Given the description of an element on the screen output the (x, y) to click on. 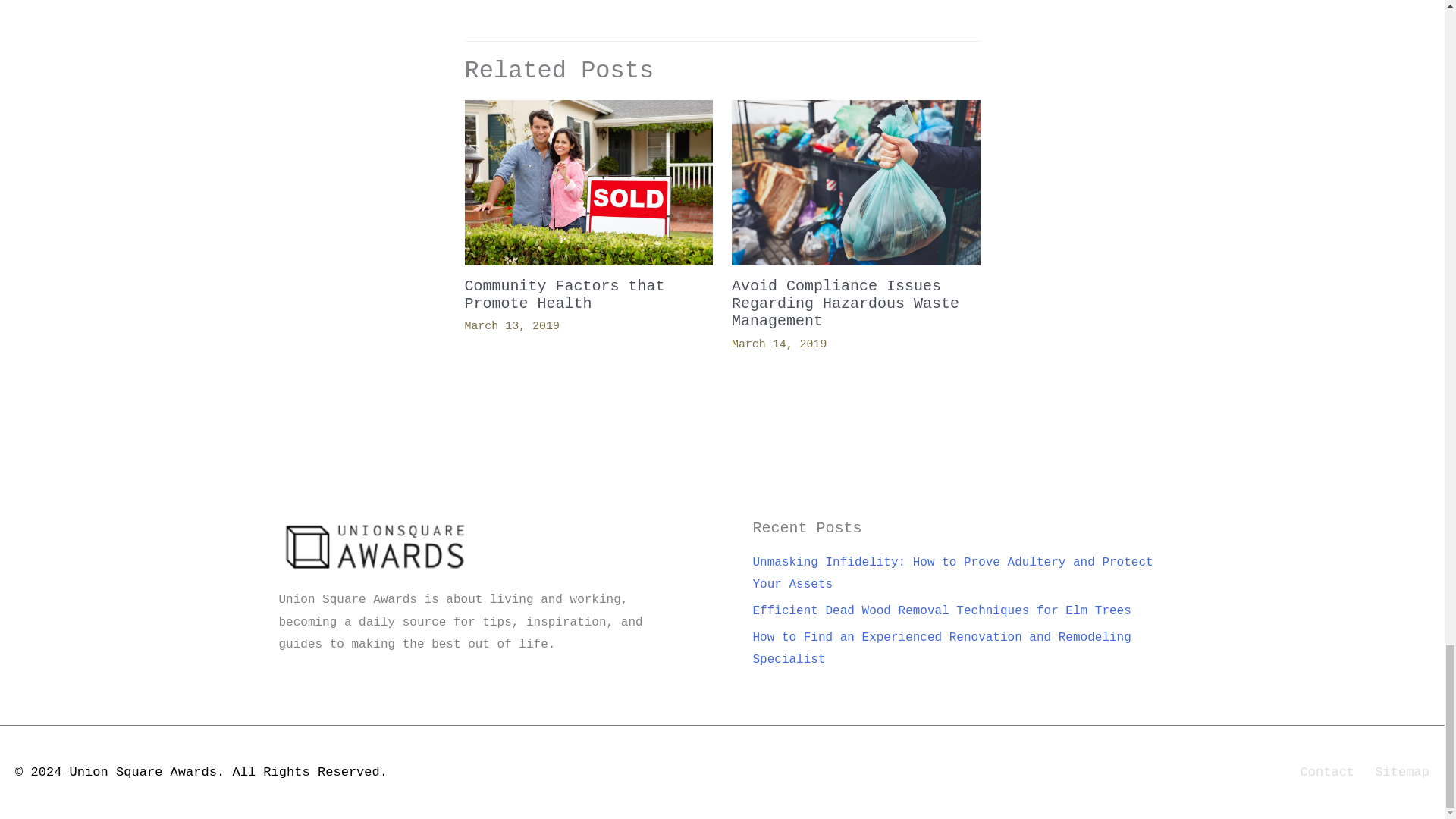
Avoid Compliance Issues Regarding Hazardous Waste Management (845, 303)
Contact (1320, 771)
Efficient Dead Wood Removal Techniques for Elm Trees (941, 611)
Community Factors that Promote Health (563, 294)
Sitemap (1395, 771)
